Given the description of an element on the screen output the (x, y) to click on. 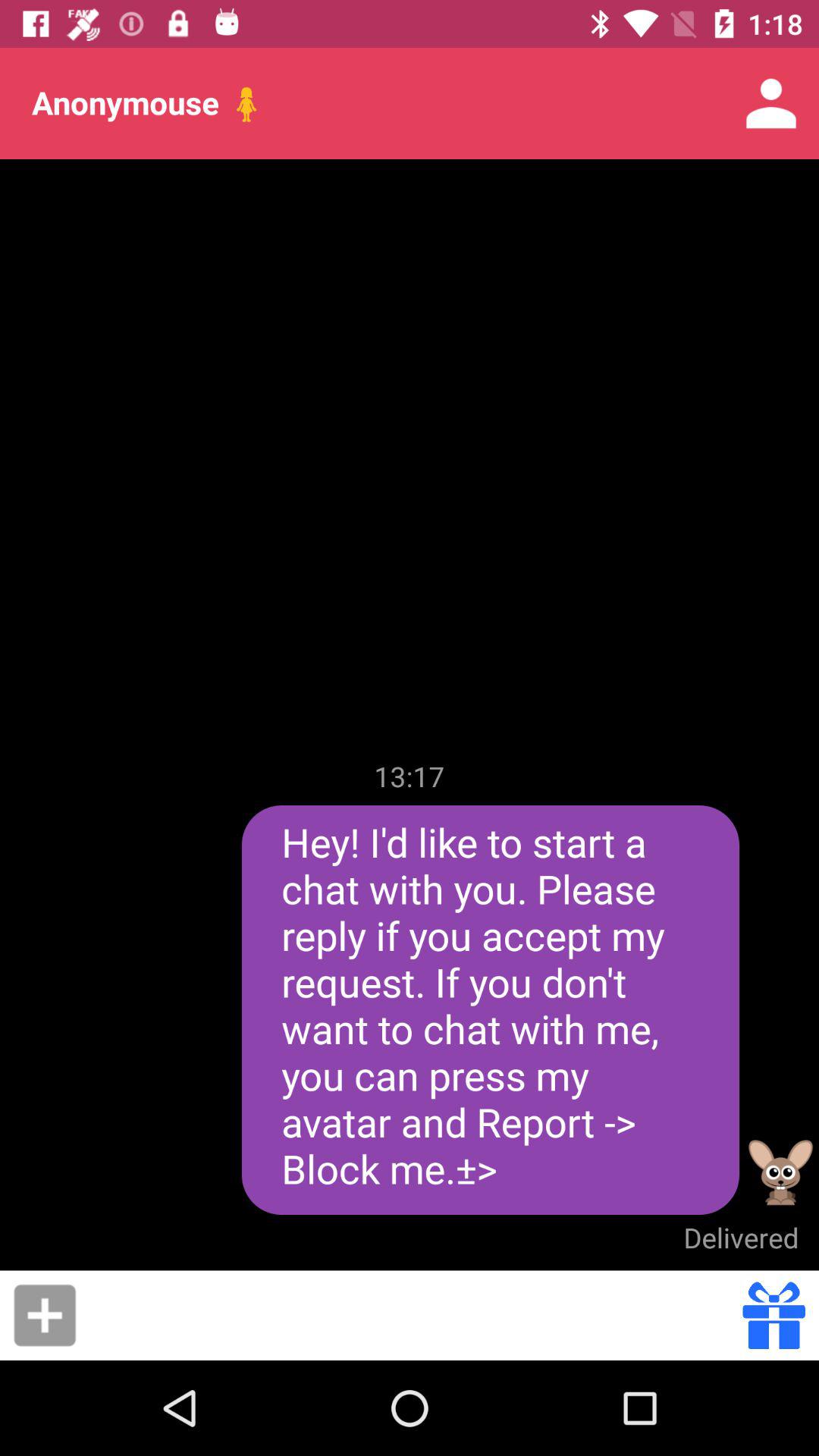
send gift (774, 1315)
